Given the description of an element on the screen output the (x, y) to click on. 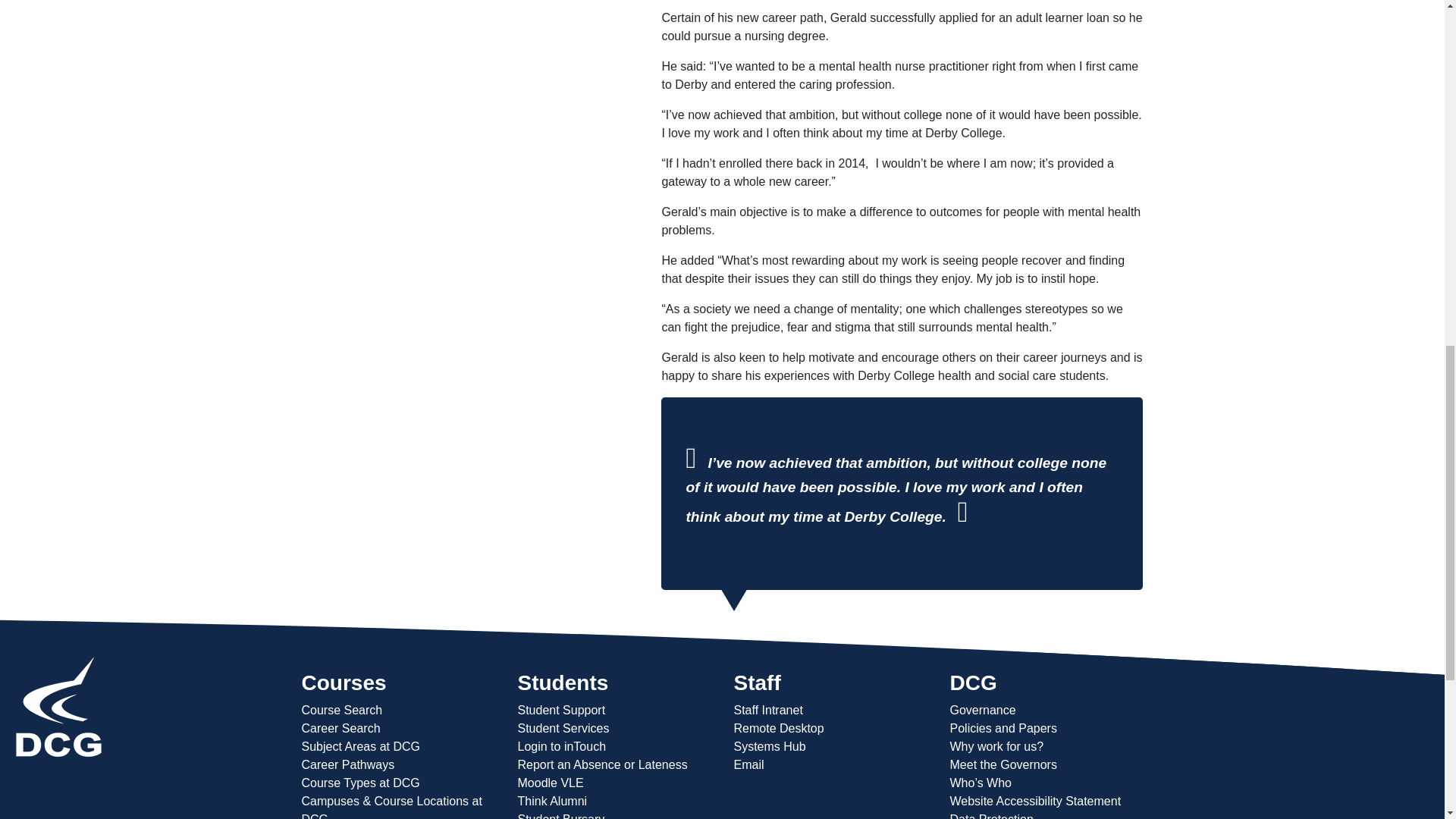
Derby College Instagram (83, 767)
Career Pathways (347, 764)
Derby College Facebook (17, 767)
Derby College Youtube (59, 767)
Subject Areas at DCG (360, 746)
Course Types at DCG (360, 782)
Course Search (341, 709)
Derby College Twitter (35, 767)
Career Search (340, 727)
